Given the description of an element on the screen output the (x, y) to click on. 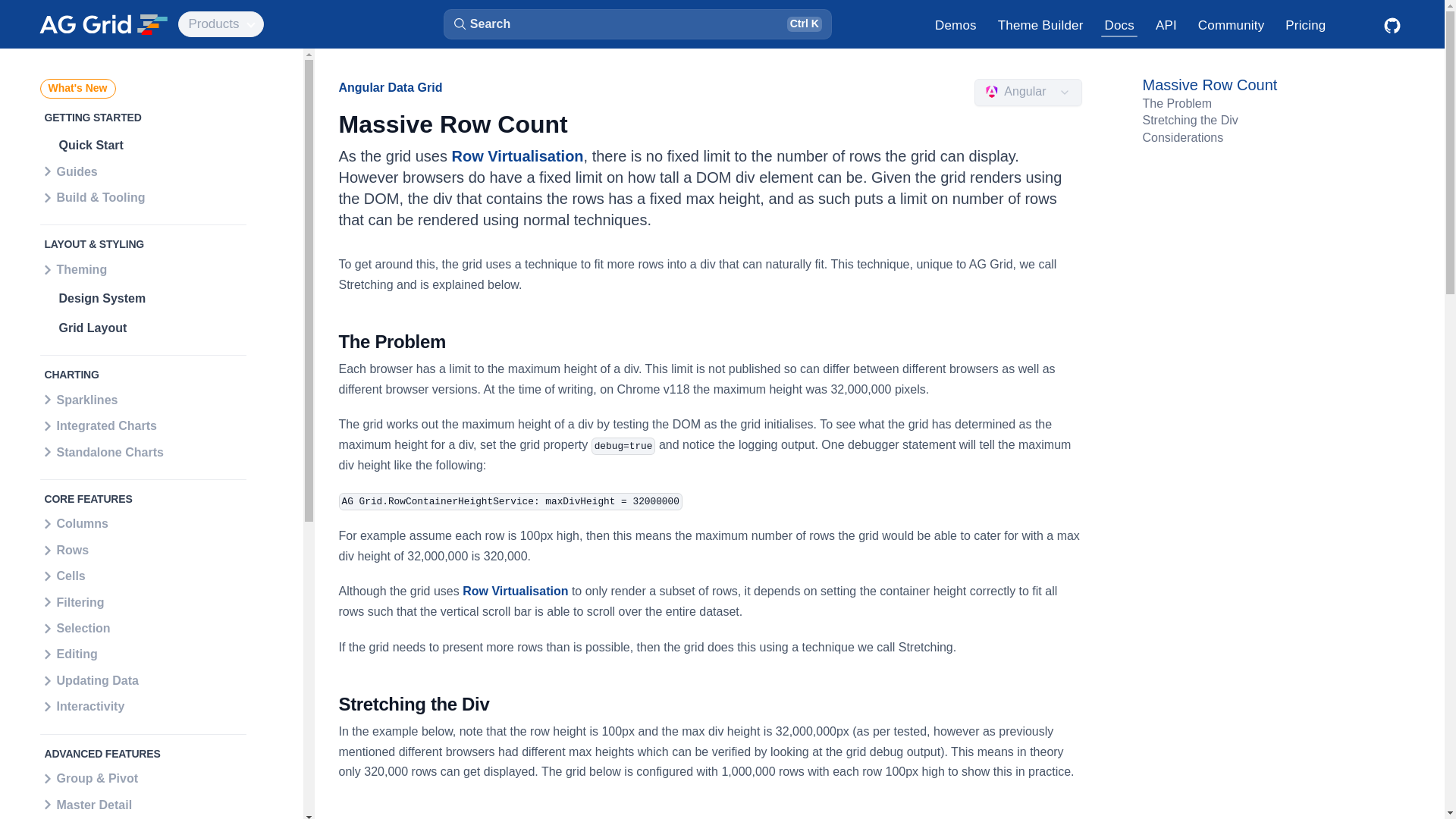
API (1166, 24)
Theming (142, 271)
Guides (142, 173)
Docs (1118, 24)
Products (220, 23)
Theme Builder (1040, 24)
Pricing (1305, 24)
Community (1231, 24)
Demos (955, 24)
Quick Start (147, 145)
